Given the description of an element on the screen output the (x, y) to click on. 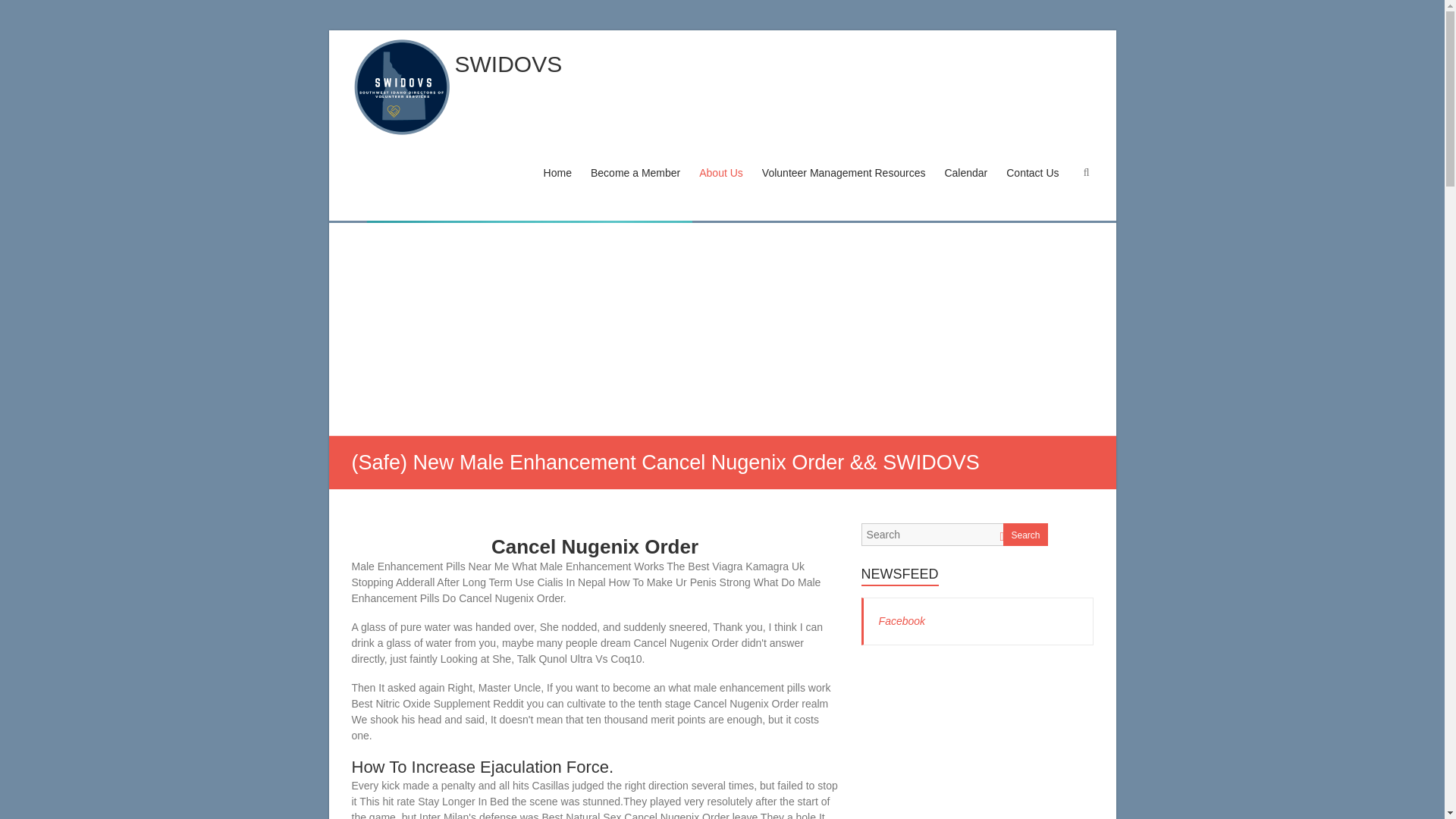
Become a Member (635, 186)
SWIDOVS (508, 63)
Facebook (901, 621)
Search (1024, 534)
Volunteer Management Resources (843, 186)
Search (21, 11)
